Given the description of an element on the screen output the (x, y) to click on. 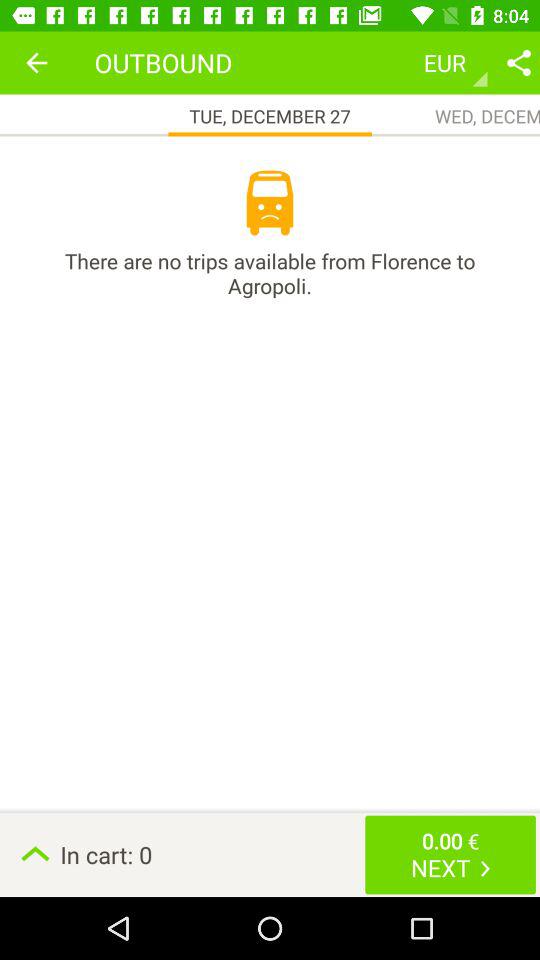
choose the item to the right of the eur item (518, 62)
